Given the description of an element on the screen output the (x, y) to click on. 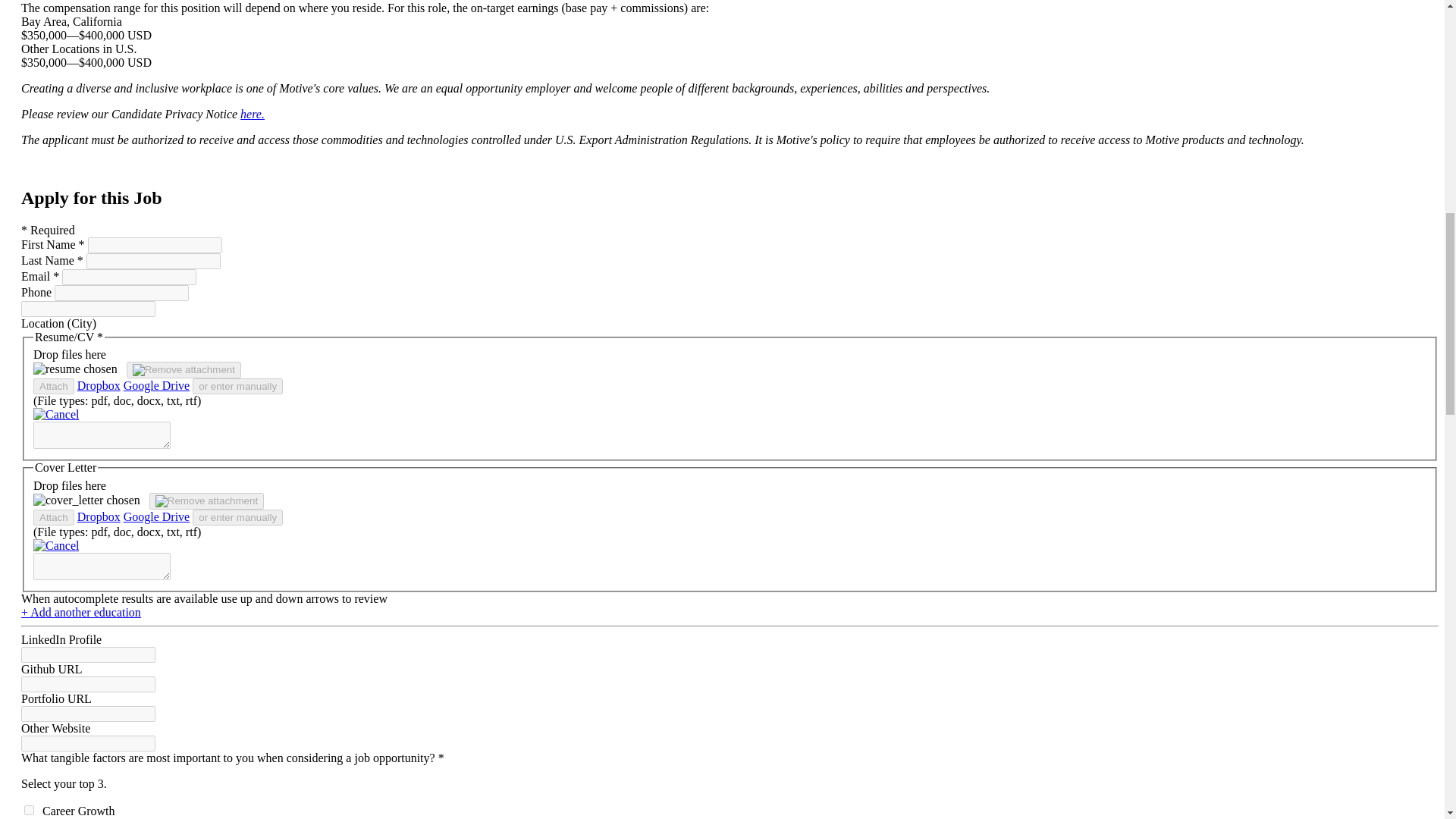
Attach (53, 385)
Dropbox (98, 385)
141925103002 (28, 809)
or enter manually (237, 385)
Attach (53, 517)
Enter manually (101, 565)
or enter manually (237, 517)
Enter manually (101, 434)
Google Drive (156, 385)
Google Drive (156, 516)
Dropbox (98, 516)
here. (252, 113)
